Given the description of an element on the screen output the (x, y) to click on. 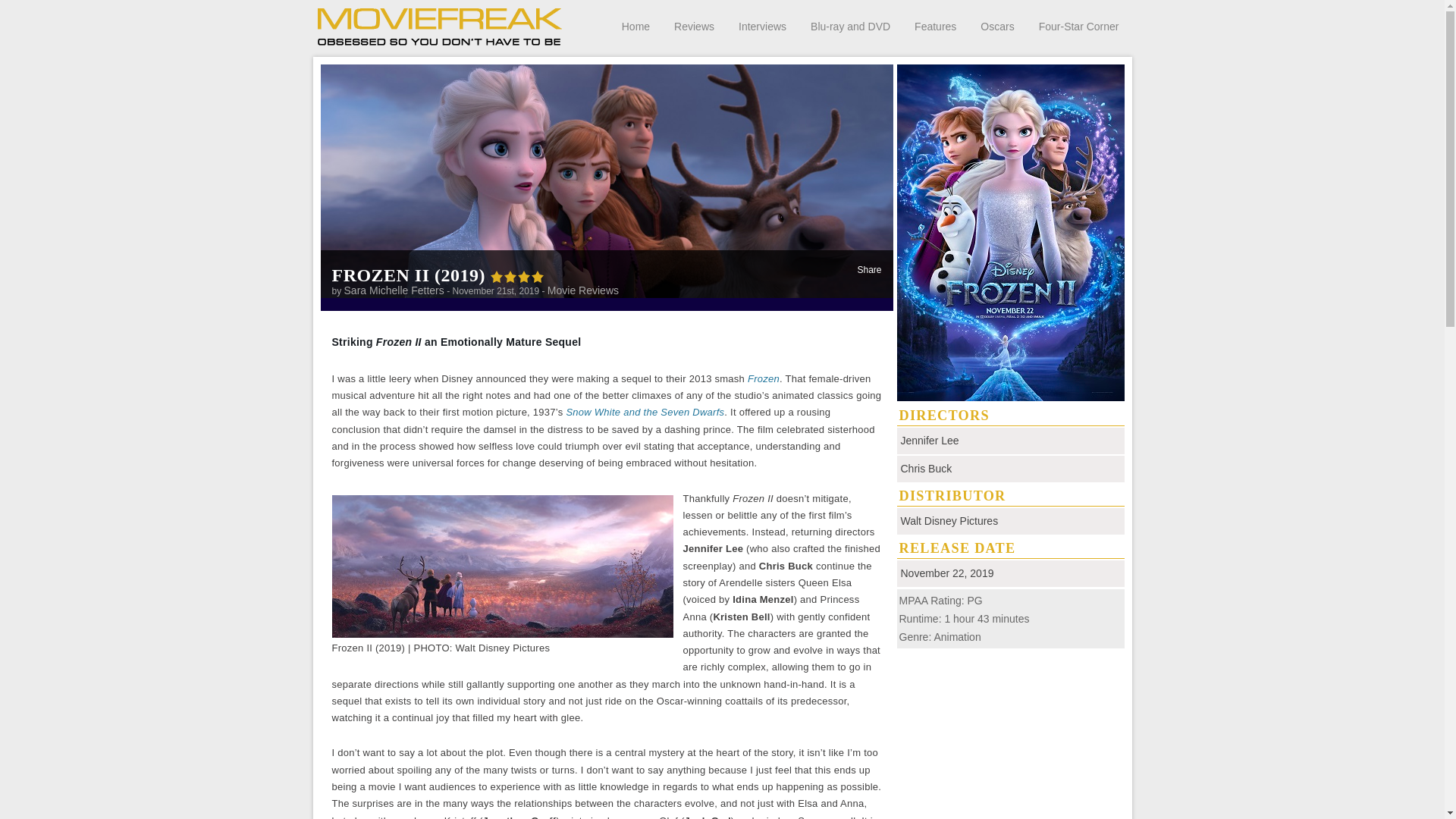
Four-Star Corner (1079, 26)
Movie Reviews (582, 290)
Reviews (694, 26)
Home (635, 26)
Oscars (996, 26)
Interviews (762, 26)
Snow White and the Seven Dwarfs (644, 411)
Features (935, 26)
Posts by Sara Michelle Fetters (393, 290)
Blu-ray and DVD (849, 26)
Frozen (763, 378)
Sara Michelle Fetters (393, 290)
4 out of 5 stars (516, 275)
